Given the description of an element on the screen output the (x, y) to click on. 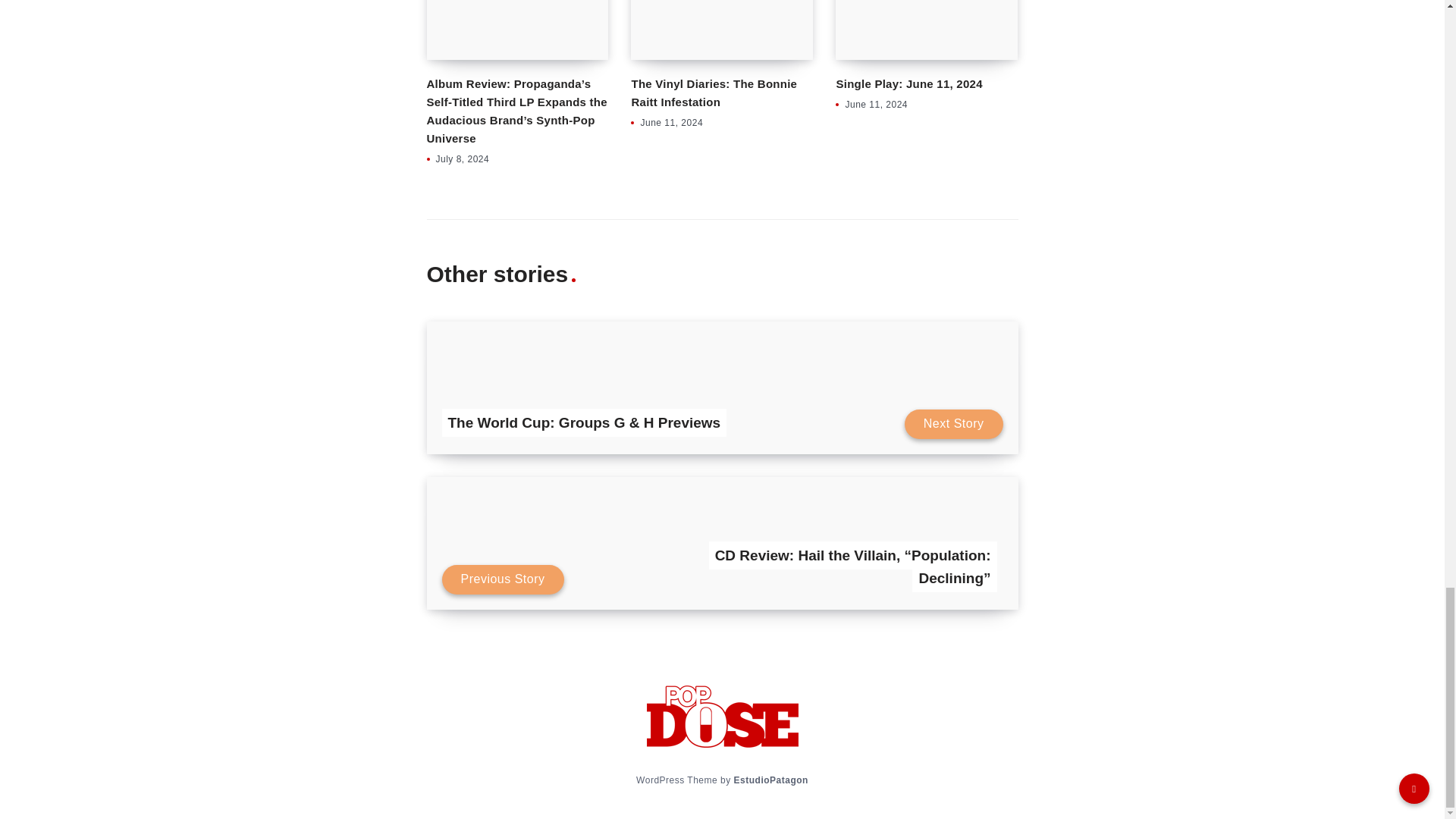
Powered with Veen (770, 779)
